Given the description of an element on the screen output the (x, y) to click on. 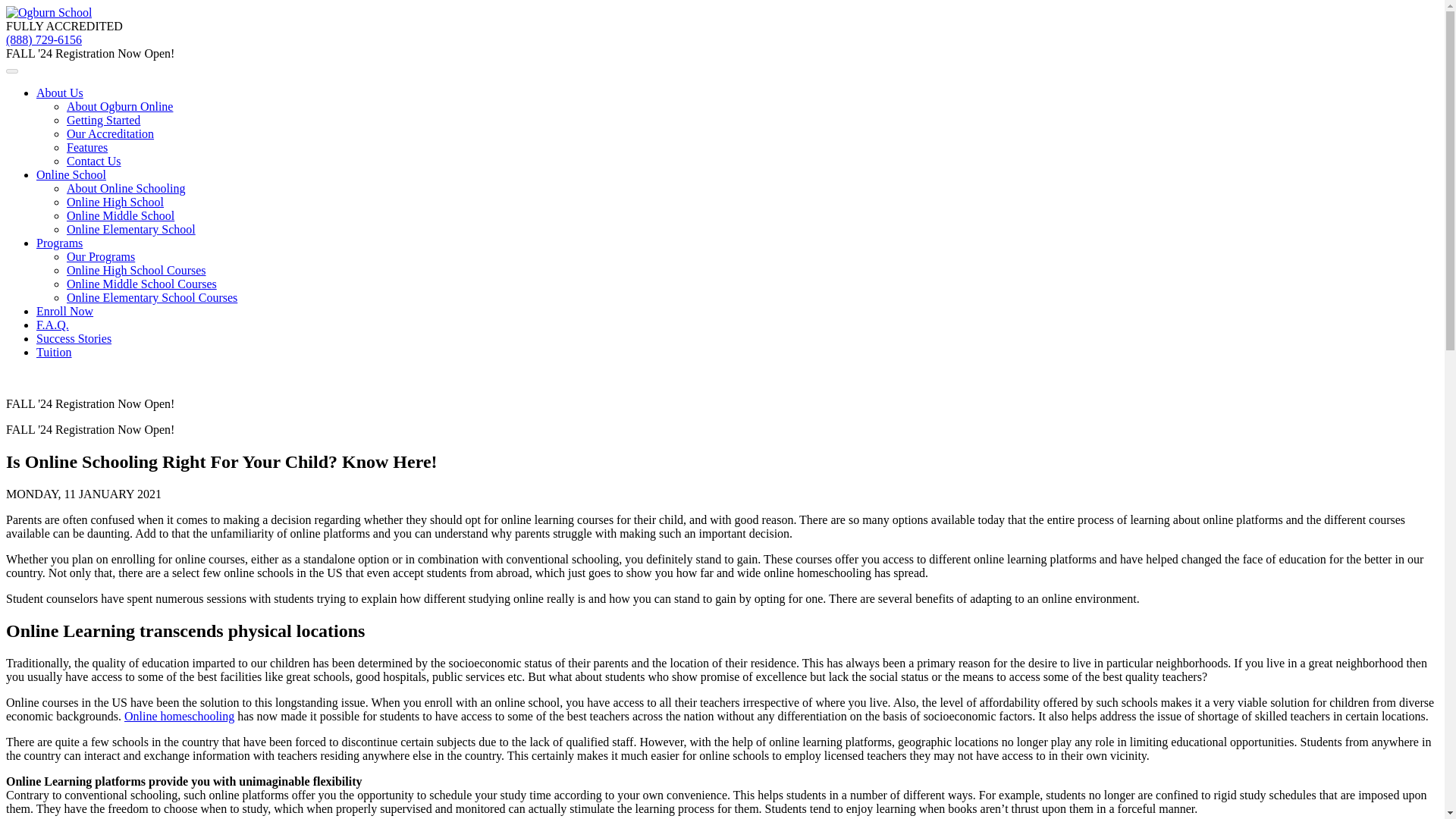
Online School (71, 174)
Online Elementary School (130, 228)
Our Accreditation (110, 133)
F.A.Q. (52, 324)
About Ogburn Online (119, 106)
Online Elementary School Courses (151, 297)
Online Middle School (120, 215)
Programs (59, 242)
About Online Schooling (125, 187)
Our Programs (100, 256)
Online homeschooling (178, 716)
Online High School (114, 201)
About Us (59, 92)
Tuition (53, 351)
Online High School Courses (136, 269)
